Given the description of an element on the screen output the (x, y) to click on. 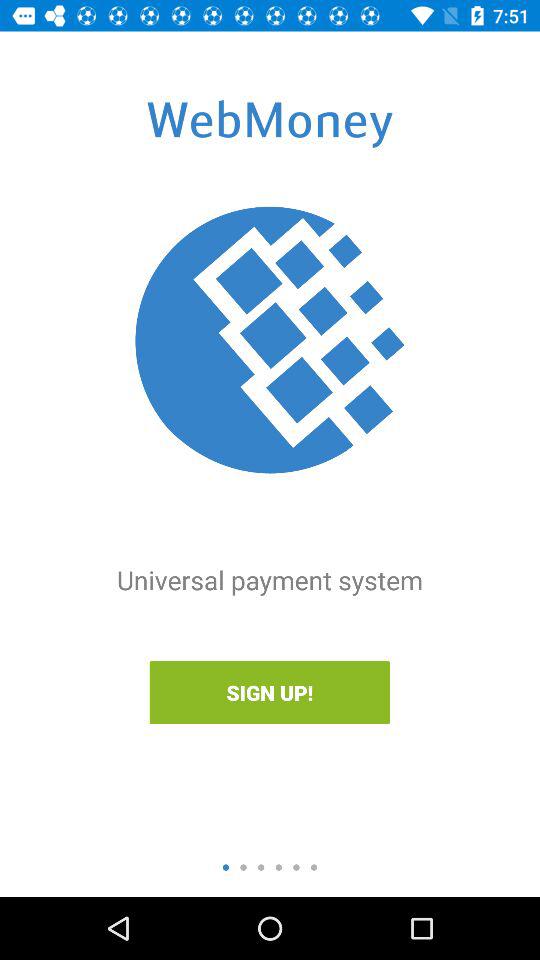
tap sign up! (269, 692)
